Given the description of an element on the screen output the (x, y) to click on. 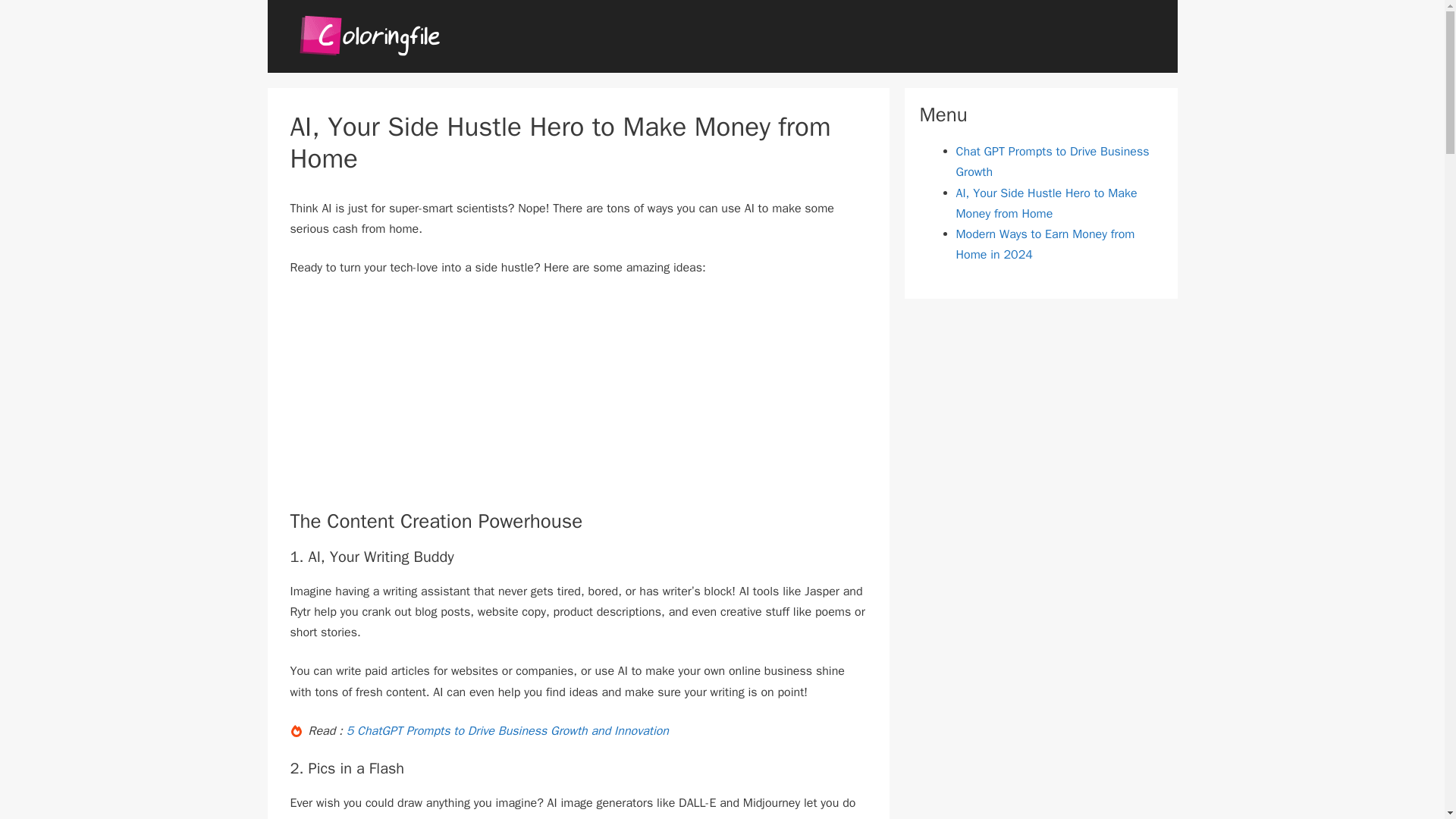
Chat GPT Prompts to Drive Business Growth (1051, 161)
5 ChatGPT Prompts to Drive Business Growth and Innovation (507, 730)
Modern Ways to Earn Money from Home in 2024 (1044, 244)
AI, Your Side Hustle Hero to Make Money from Home (1046, 203)
Advertisement (577, 403)
